Given the description of an element on the screen output the (x, y) to click on. 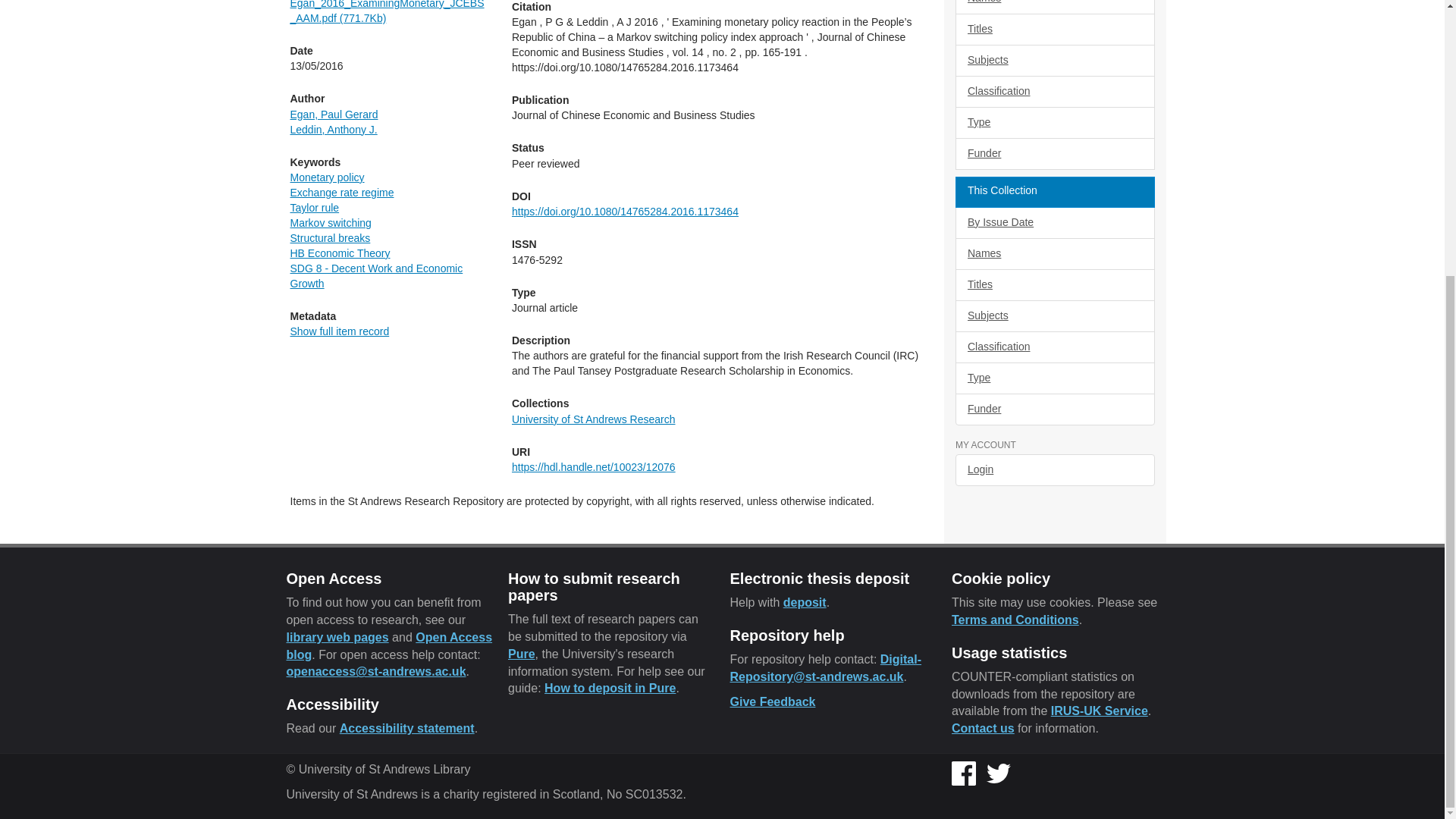
Markov switching (330, 223)
Show full item record (338, 331)
Structural breaks (329, 237)
Leddin, Anthony J. (333, 129)
Monetary policy (326, 177)
HB Economic Theory (339, 253)
Help with electronic theses deposit (805, 602)
Accessibility statement (406, 727)
IRUS-UK Service (1099, 710)
